Given the description of an element on the screen output the (x, y) to click on. 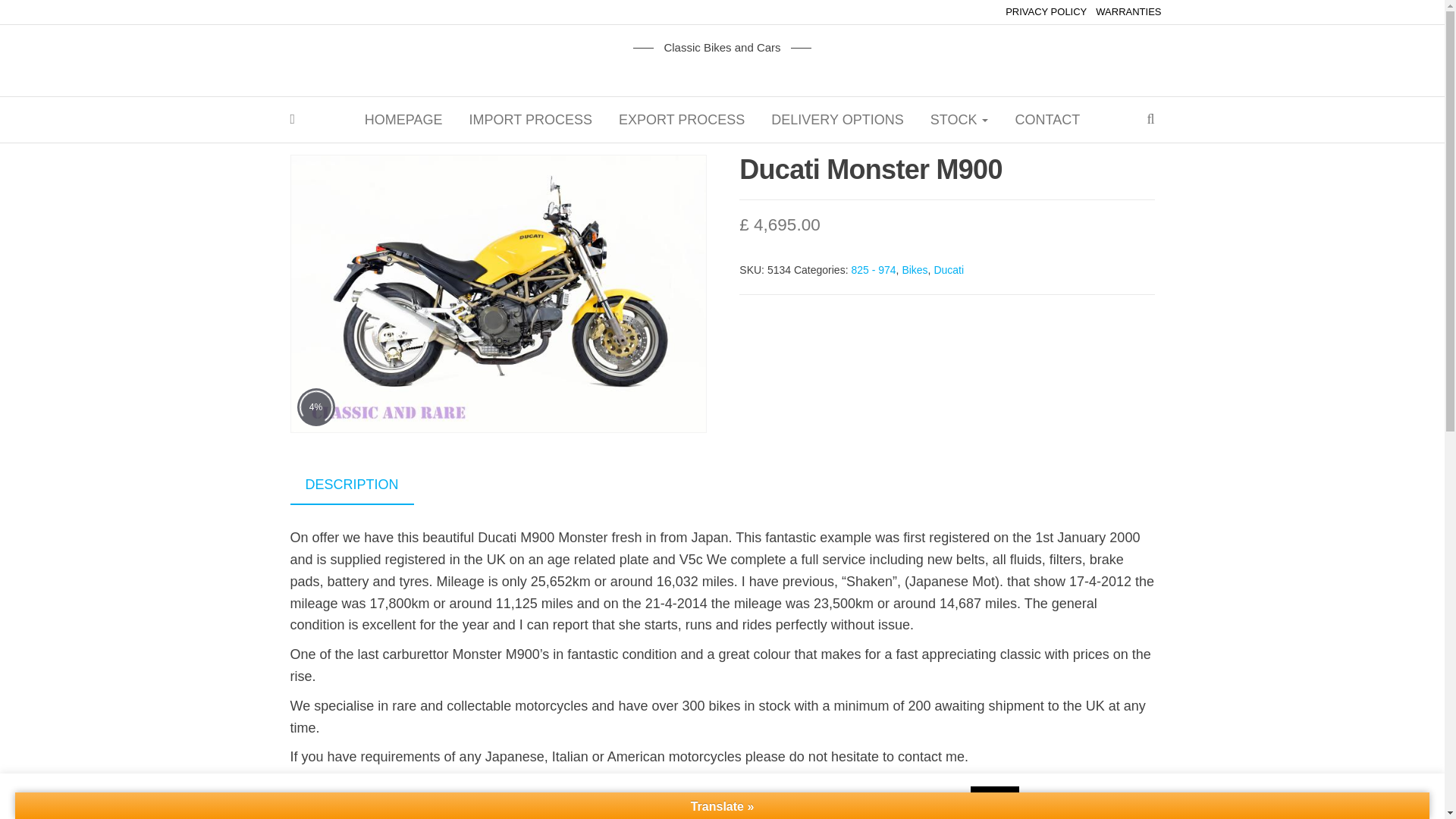
Delivery Options (837, 119)
CONTACT (1046, 119)
Warranties (1128, 12)
Classic and Rare (520, 47)
Import Process (531, 119)
Homepage (403, 119)
Bikes (914, 269)
STOCK (959, 119)
PRIVACY POLICY (1045, 12)
IMPORT PROCESS (531, 119)
825 - 974 (872, 269)
Privacy Policy (1045, 12)
Ducati (948, 269)
DESCRIPTION (351, 485)
Export Process (681, 119)
